Given the description of an element on the screen output the (x, y) to click on. 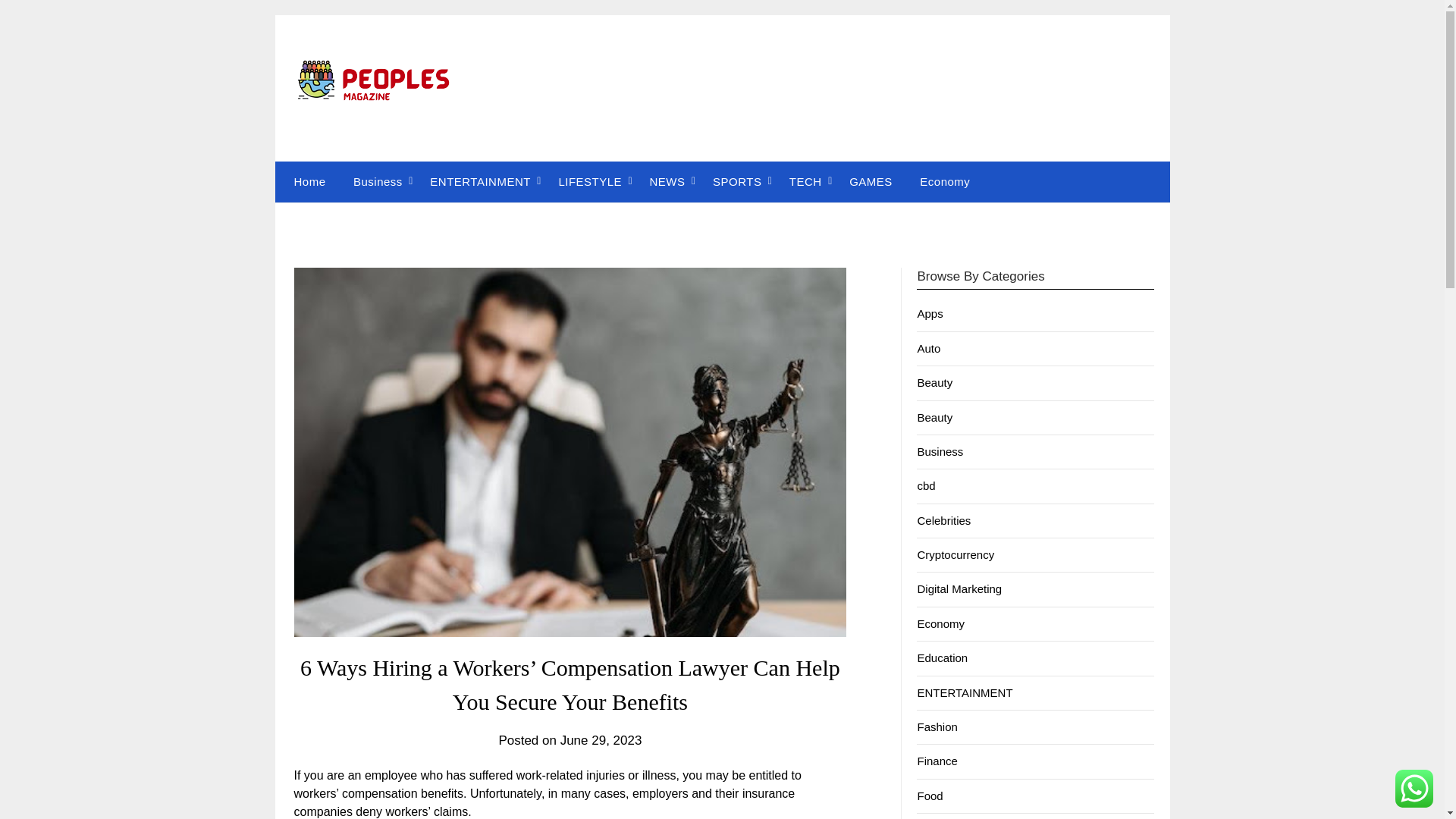
Apps (929, 313)
Economy (944, 181)
SPORTS (736, 181)
Home (306, 181)
Auto (928, 348)
LIFESTYLE (589, 181)
GAMES (870, 181)
Beauty (934, 417)
TECH (805, 181)
Beauty (934, 382)
NEWS (667, 181)
ENTERTAINMENT (480, 181)
Business (377, 181)
